Given the description of an element on the screen output the (x, y) to click on. 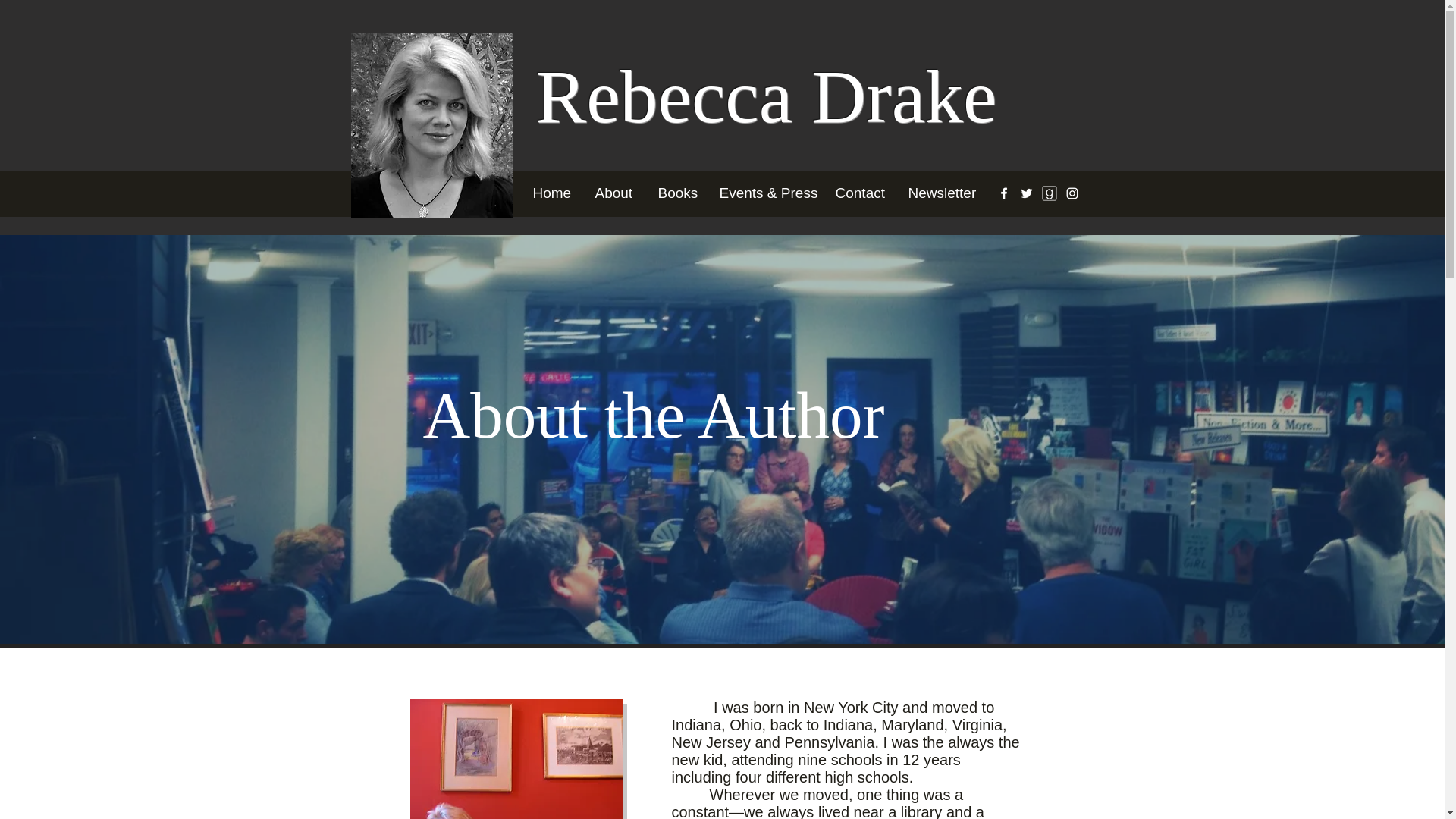
Home (552, 193)
Newsletter (942, 193)
Books (676, 193)
Contact (860, 193)
